Given the description of an element on the screen output the (x, y) to click on. 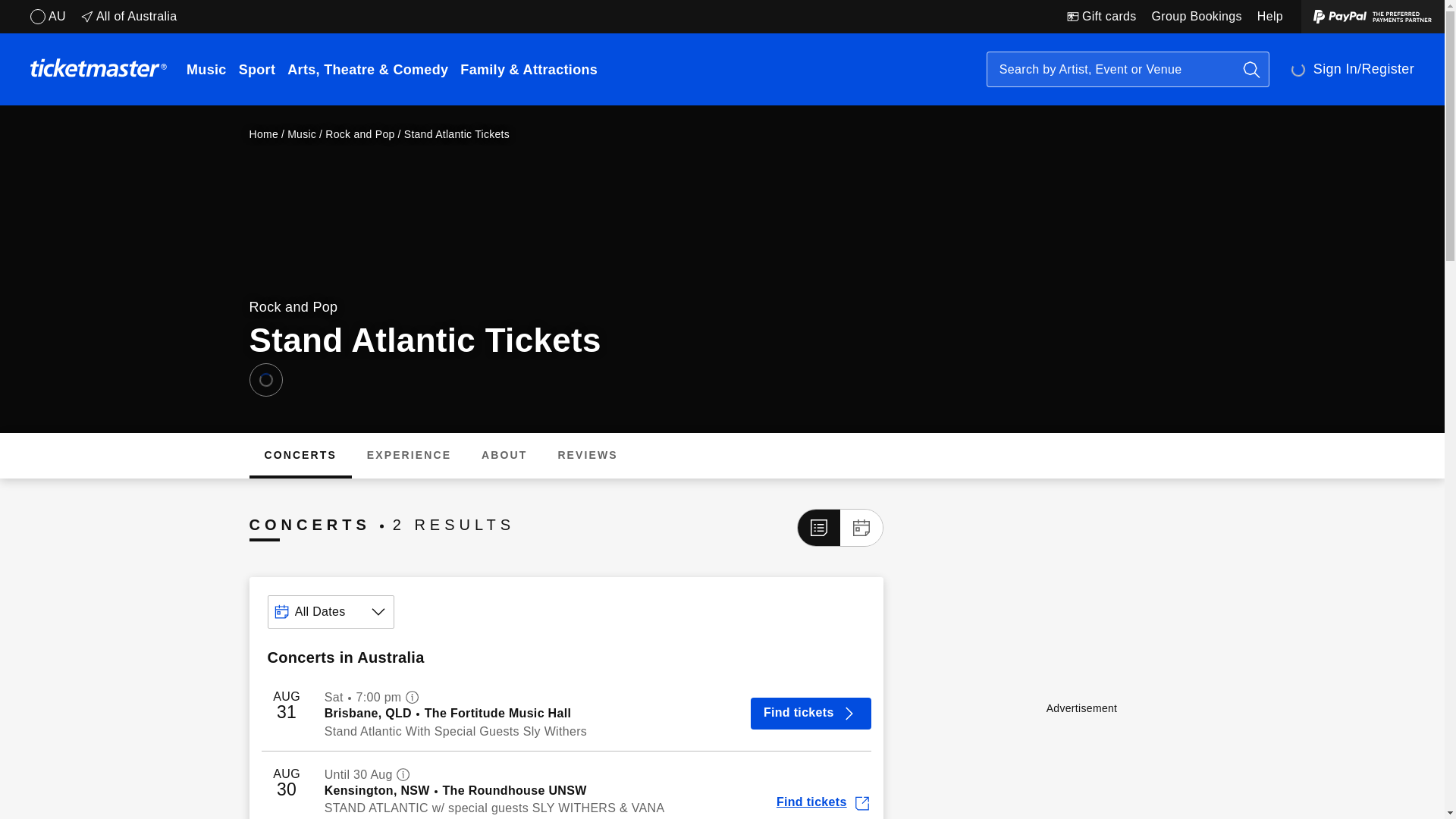
All of Australia (129, 16)
Save Stand Atlantic to favorites (265, 379)
Ticketmaster Home page (98, 69)
Gift cards (1101, 16)
Show events in list view (818, 527)
Search (1251, 69)
REVIEWS (586, 455)
Australia (48, 16)
Music (300, 133)
Home (263, 133)
